Given the description of an element on the screen output the (x, y) to click on. 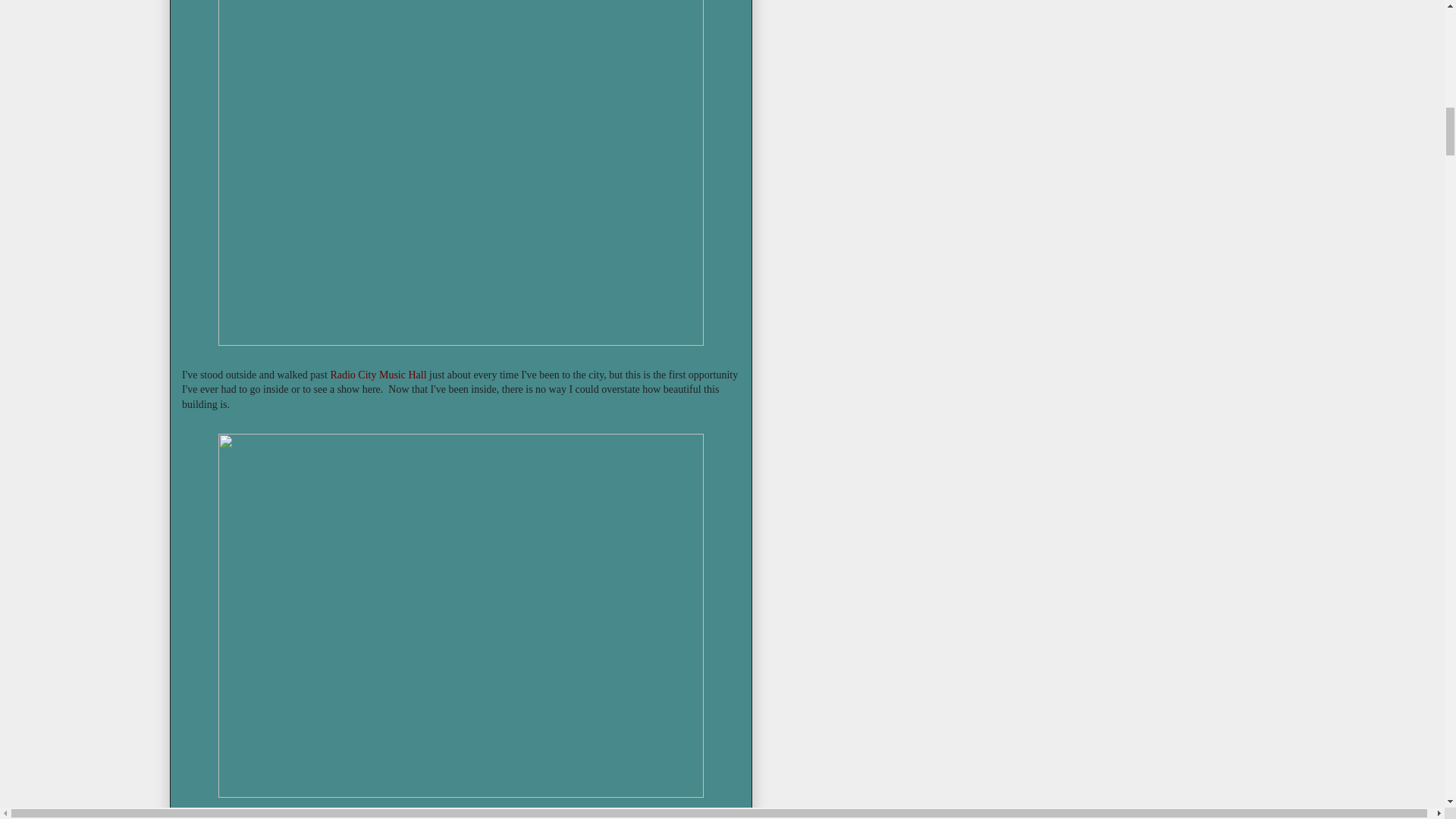
Radio City Music Hall (378, 374)
